Given the description of an element on the screen output the (x, y) to click on. 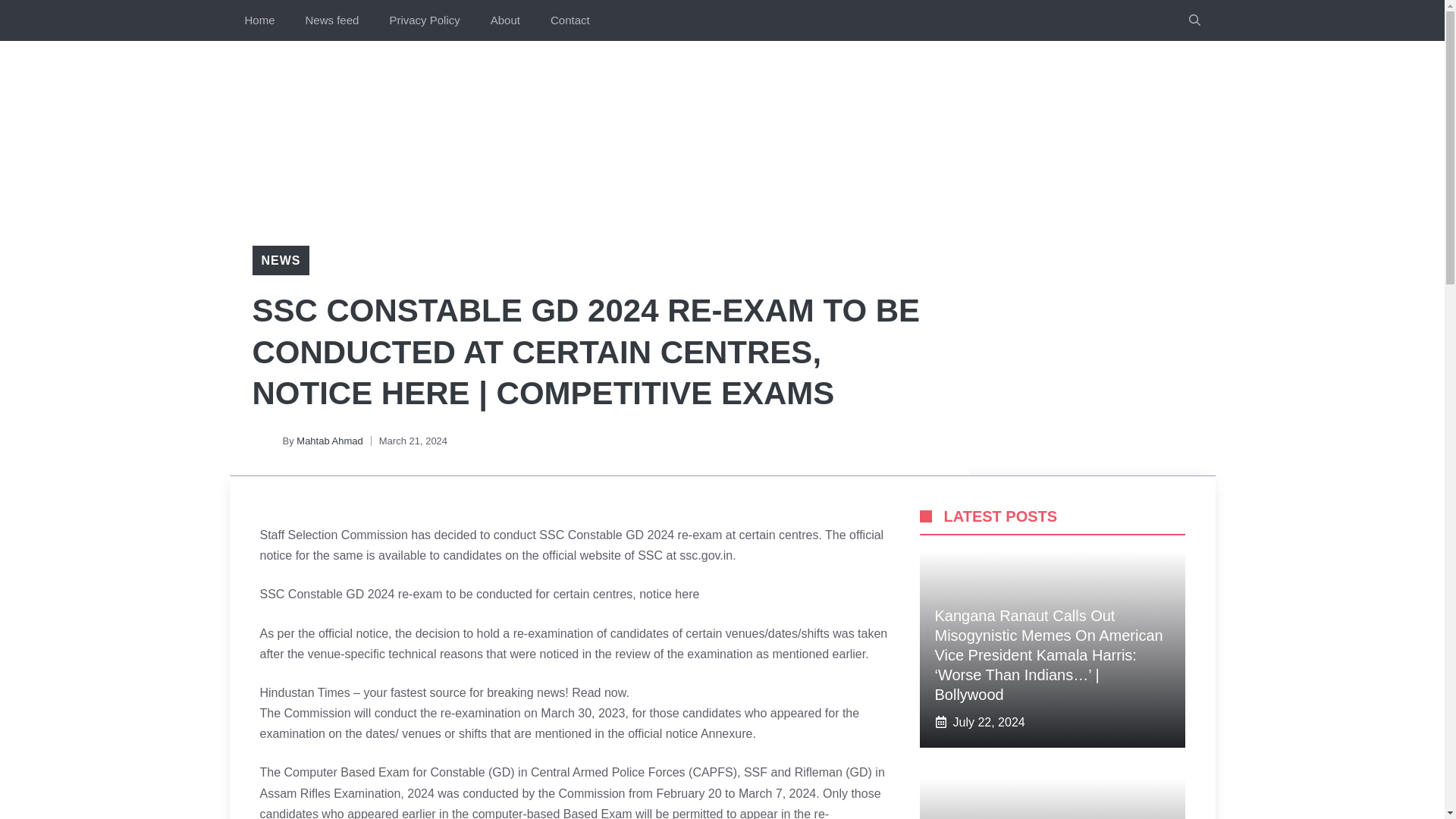
News feed (331, 20)
Mahtab Ahmad (329, 440)
About (505, 20)
Read now. (600, 692)
Privacy Policy (424, 20)
Home (258, 20)
NEWS (279, 259)
Contact (570, 20)
